Given the description of an element on the screen output the (x, y) to click on. 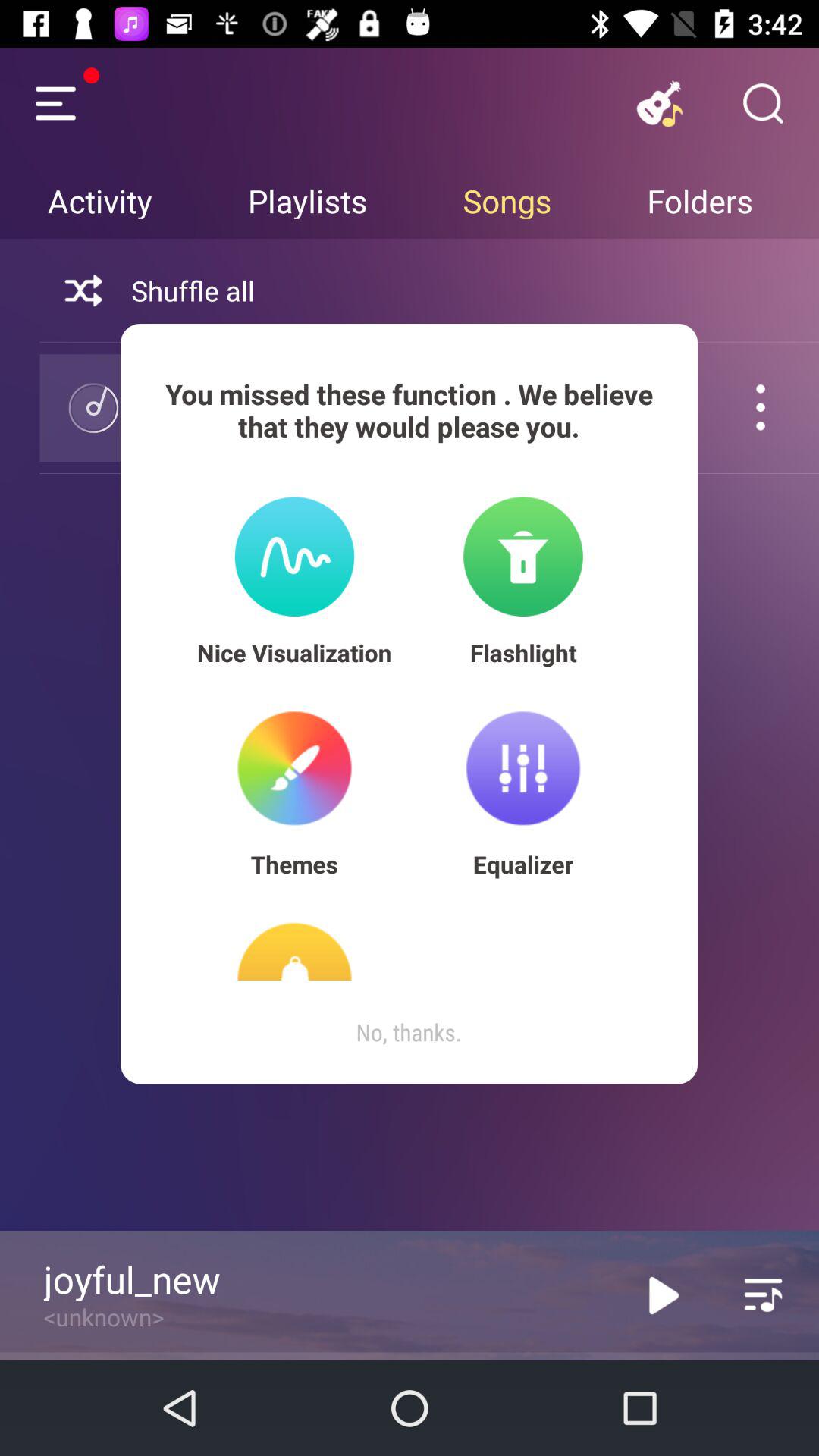
launch equalizer icon (523, 864)
